Given the description of an element on the screen output the (x, y) to click on. 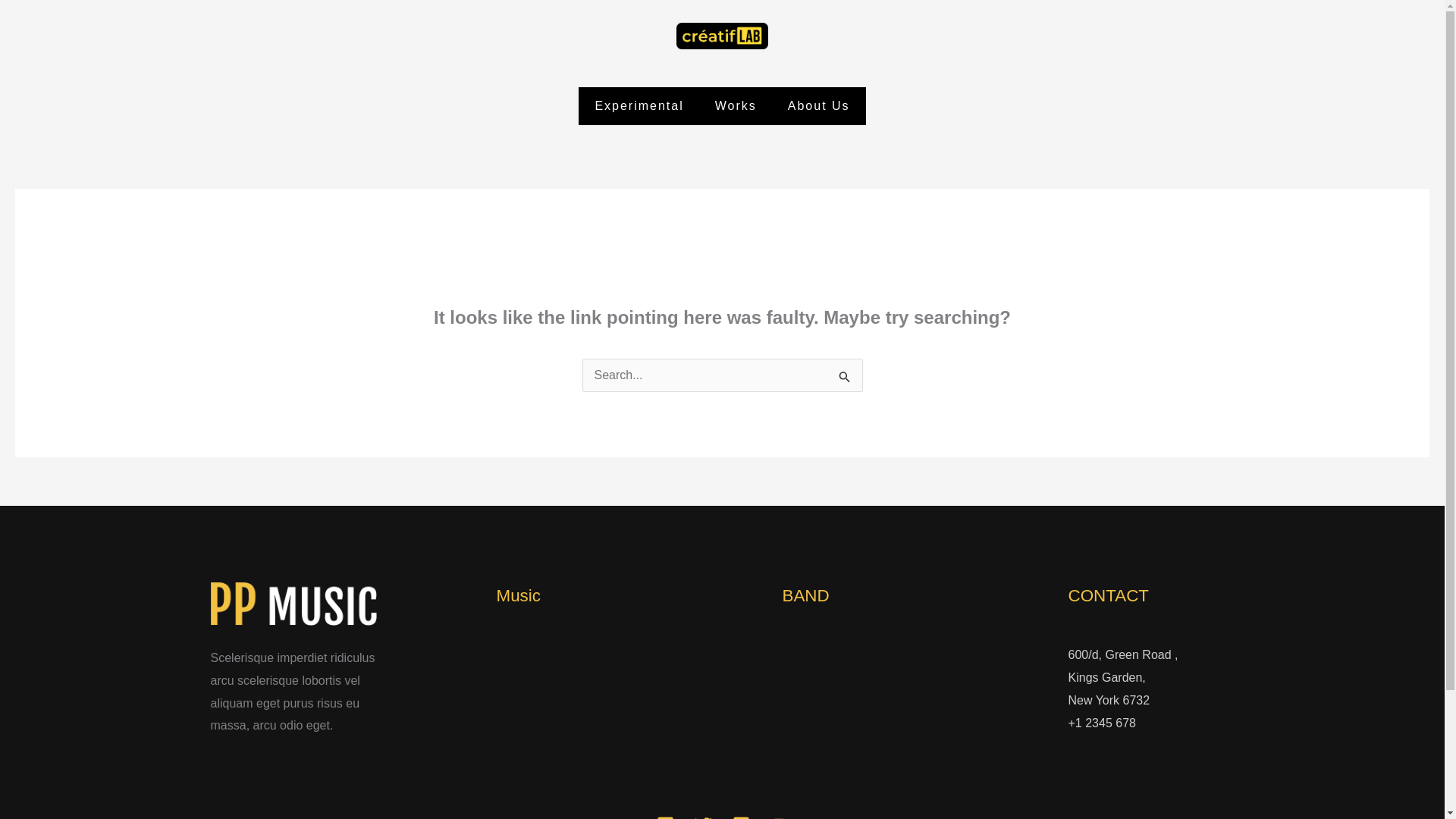
About Us (819, 105)
Works (736, 105)
Experimental (638, 105)
